Given the description of an element on the screen output the (x, y) to click on. 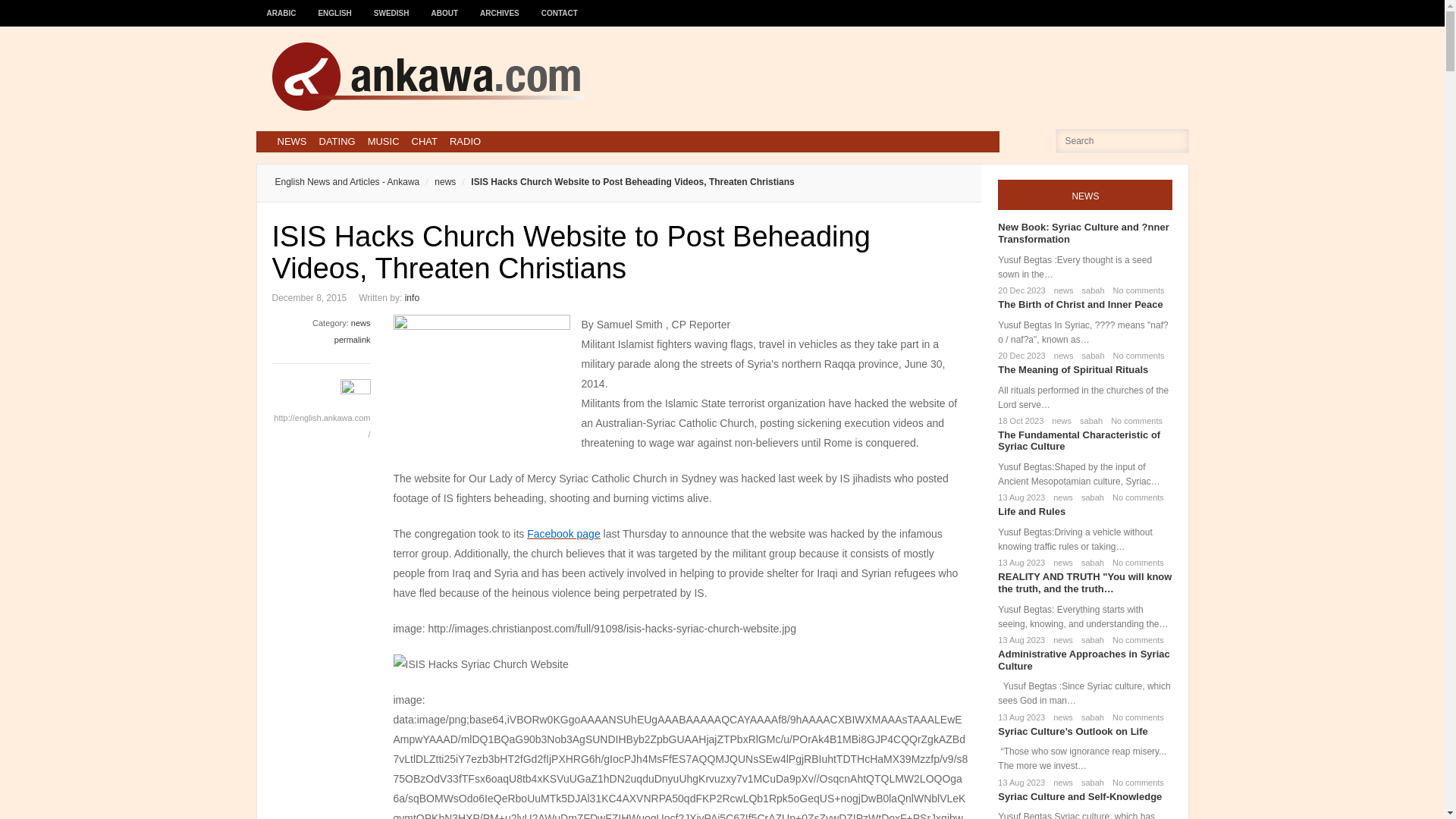
permalink (352, 338)
news (1059, 497)
news (1058, 420)
The Meaning of Spiritual Rituals (1072, 369)
No comments (1135, 355)
ENGLISH (334, 5)
CONTACT (560, 5)
The Fundamental Characteristic of Syriac Culture (1078, 440)
Search (35, 15)
sabah (1090, 289)
Facebook page (563, 533)
View all posts by info (411, 297)
NEWS (291, 141)
news (360, 322)
